Given the description of an element on the screen output the (x, y) to click on. 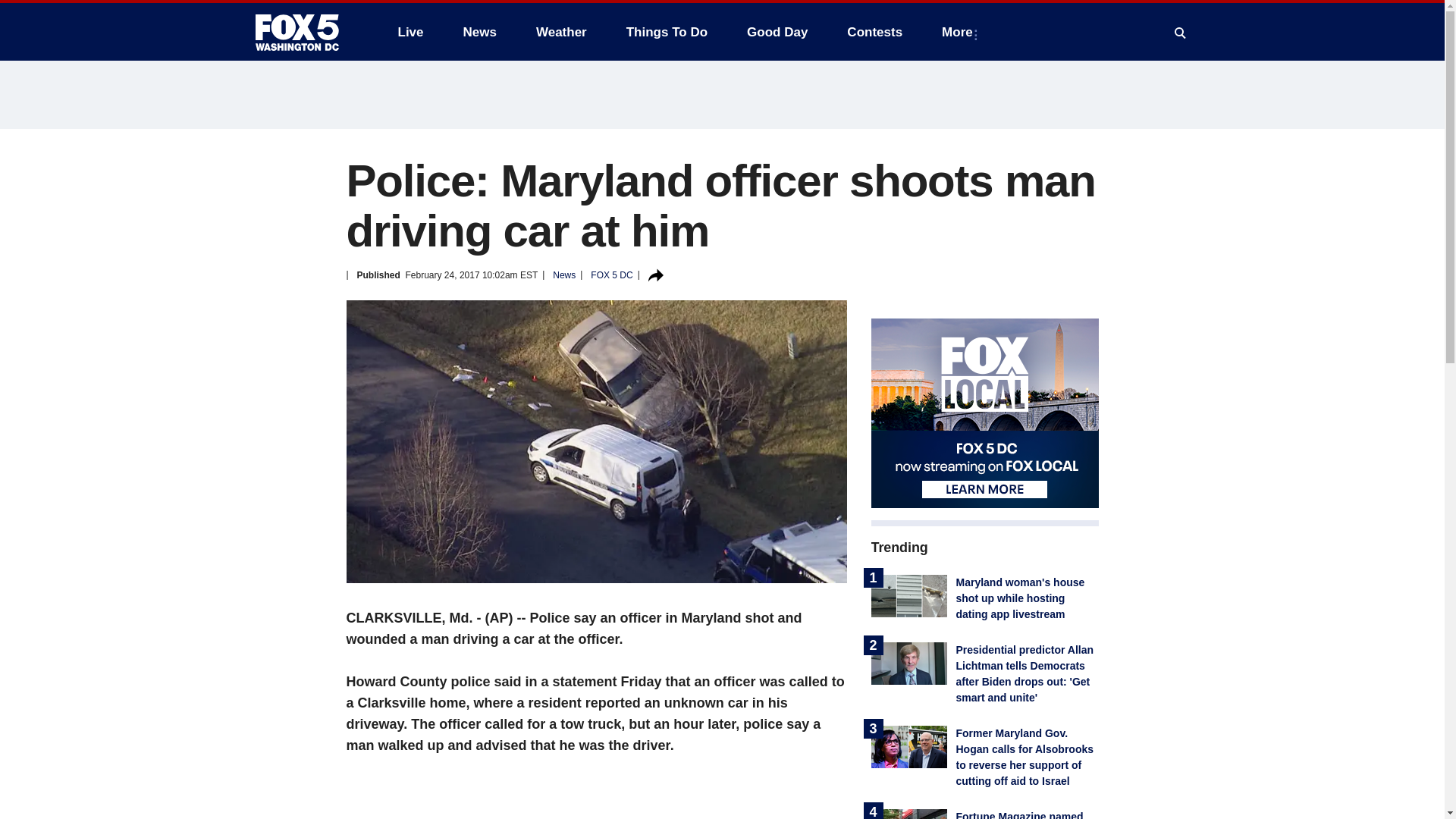
News (479, 32)
Things To Do (666, 32)
More (960, 32)
Weather (561, 32)
Live (410, 32)
Good Day (777, 32)
Contests (874, 32)
